Given the description of an element on the screen output the (x, y) to click on. 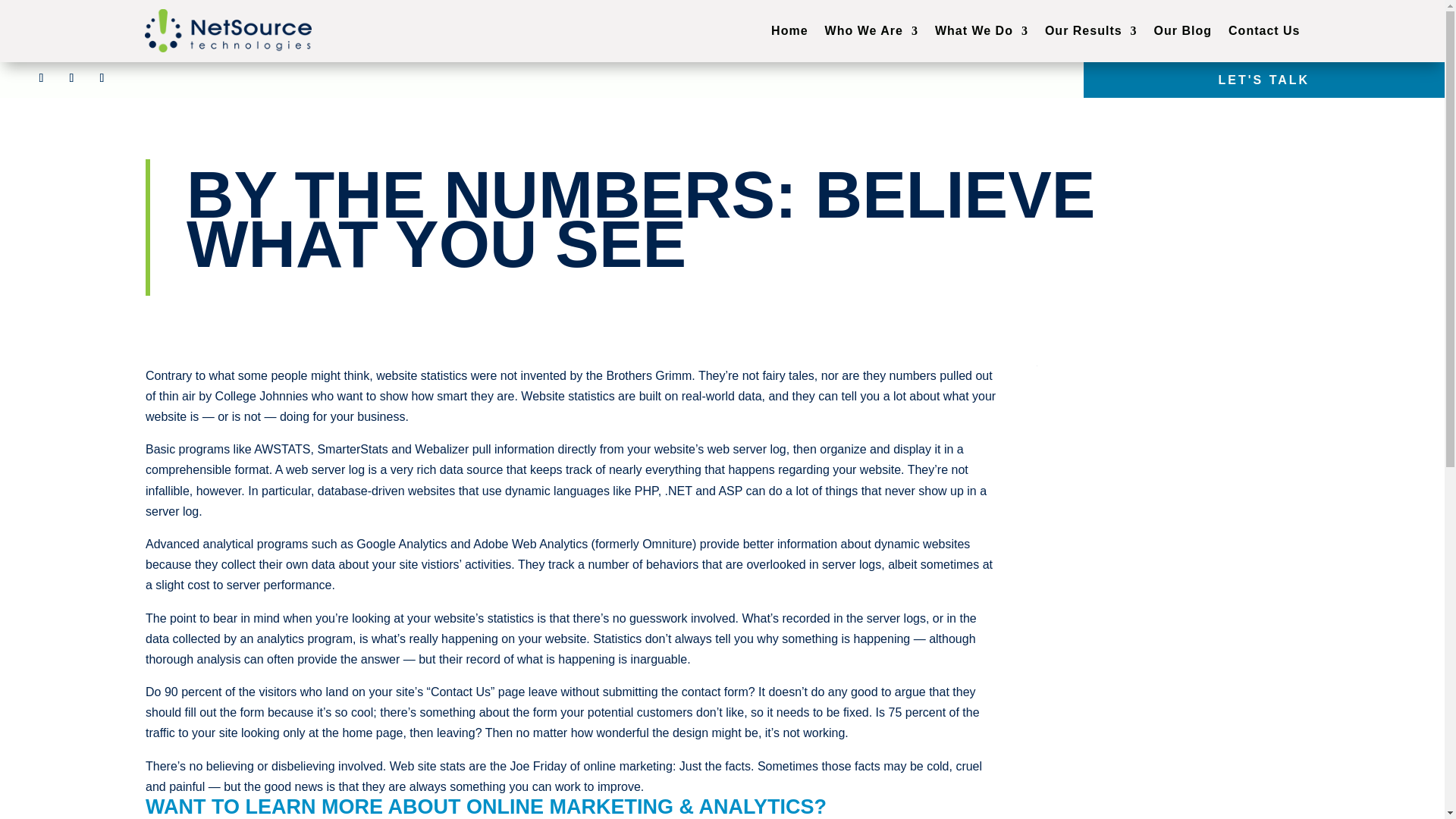
Our Blog (1182, 30)
Who We Are (871, 30)
Follow on LinkedIn (100, 78)
What We Do (980, 30)
Follow on X (70, 78)
Our Results (1091, 30)
Follow on Facebook (40, 78)
Contact Us (1264, 30)
LET'S TALK (1264, 79)
